Given the description of an element on the screen output the (x, y) to click on. 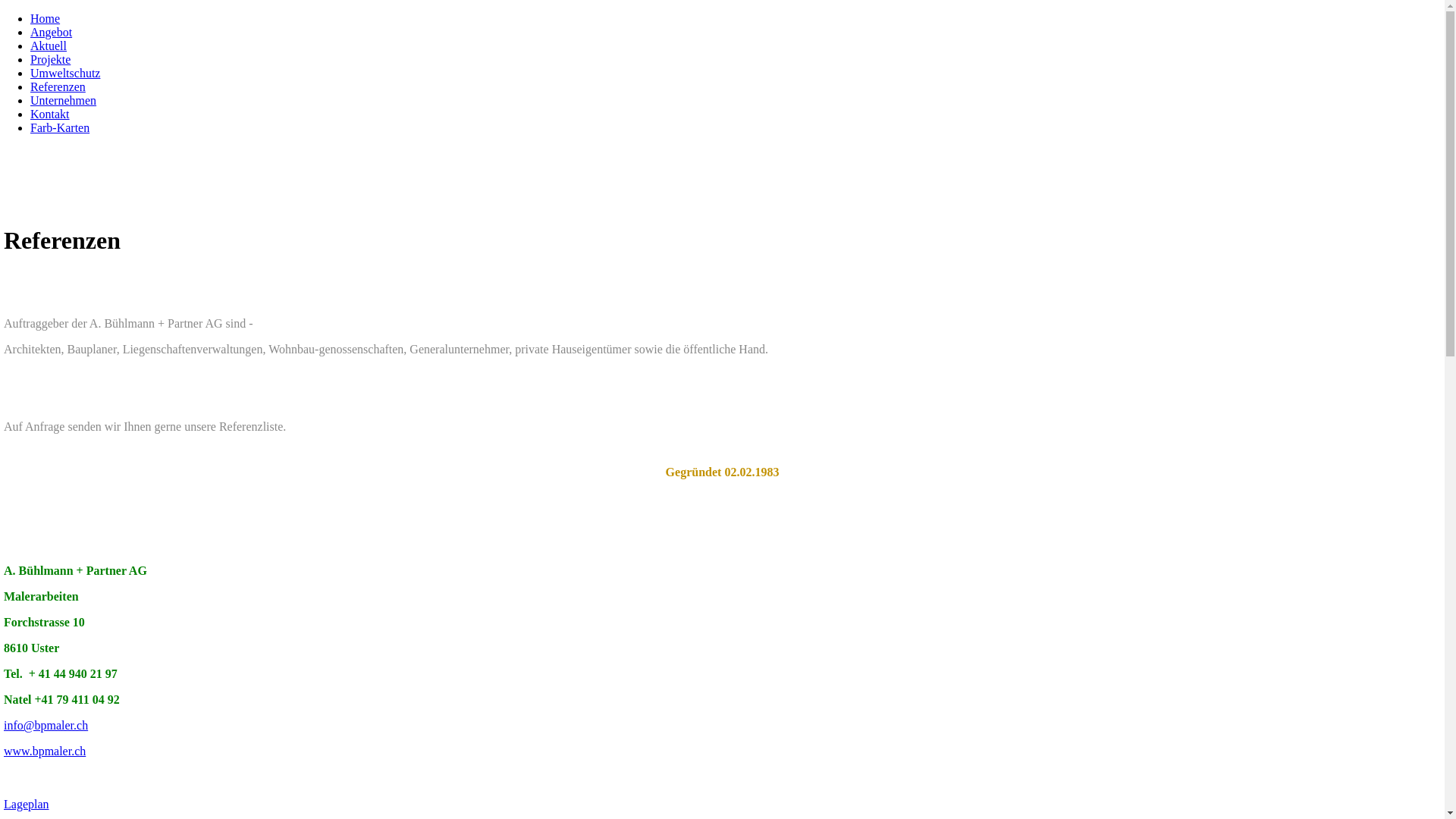
Lageplan Element type: text (26, 803)
www.bpmaler.ch Element type: text (44, 750)
Home Element type: text (44, 18)
Farb-Karten Element type: text (59, 127)
Referenzen Element type: text (57, 86)
Projekte Element type: text (50, 59)
Unternehmen Element type: text (63, 100)
Kontakt Element type: text (49, 113)
info@bpmaler.ch Element type: text (45, 724)
Aktuell Element type: text (48, 45)
Angebot Element type: text (51, 31)
Umweltschutz Element type: text (65, 72)
